Given the description of an element on the screen output the (x, y) to click on. 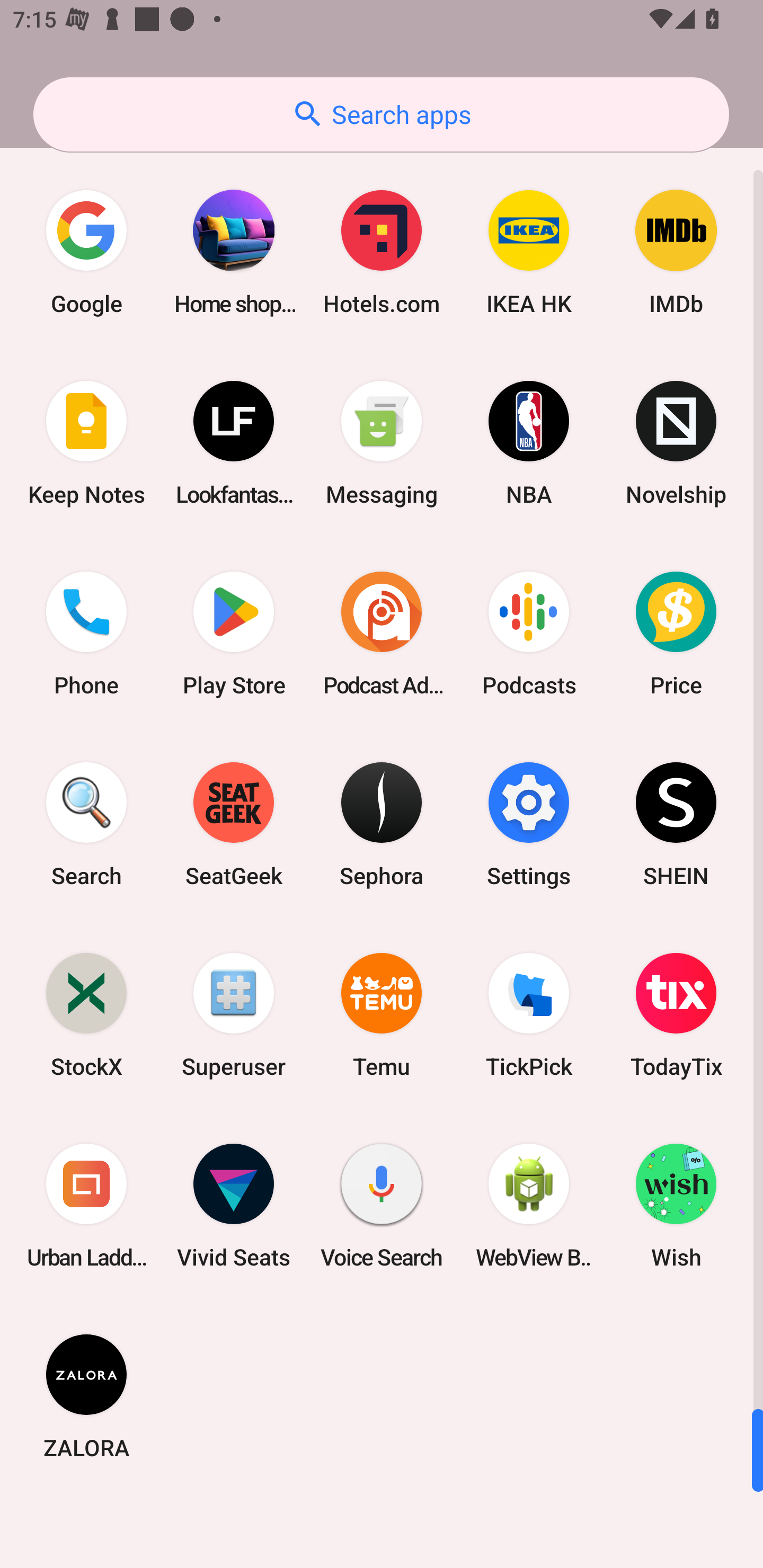
  Search apps (381, 114)
Google (86, 252)
Home shopping (233, 252)
Hotels.com (381, 252)
IKEA HK (528, 252)
IMDb (676, 252)
Keep Notes (86, 442)
Lookfantastic (233, 442)
Messaging (381, 442)
NBA (528, 442)
Novelship (676, 442)
Phone (86, 633)
Play Store (233, 633)
Podcast Addict (381, 633)
Podcasts (528, 633)
Price (676, 633)
Search (86, 823)
SeatGeek (233, 823)
Sephora (381, 823)
Settings (528, 823)
SHEIN (676, 823)
StockX (86, 1014)
Superuser (233, 1014)
Temu (381, 1014)
TickPick (528, 1014)
TodayTix (676, 1014)
Urban Ladder (86, 1205)
Vivid Seats (233, 1205)
Voice Search (381, 1205)
WebView Browser Tester (528, 1205)
Wish (676, 1205)
ZALORA (86, 1396)
